Given the description of an element on the screen output the (x, y) to click on. 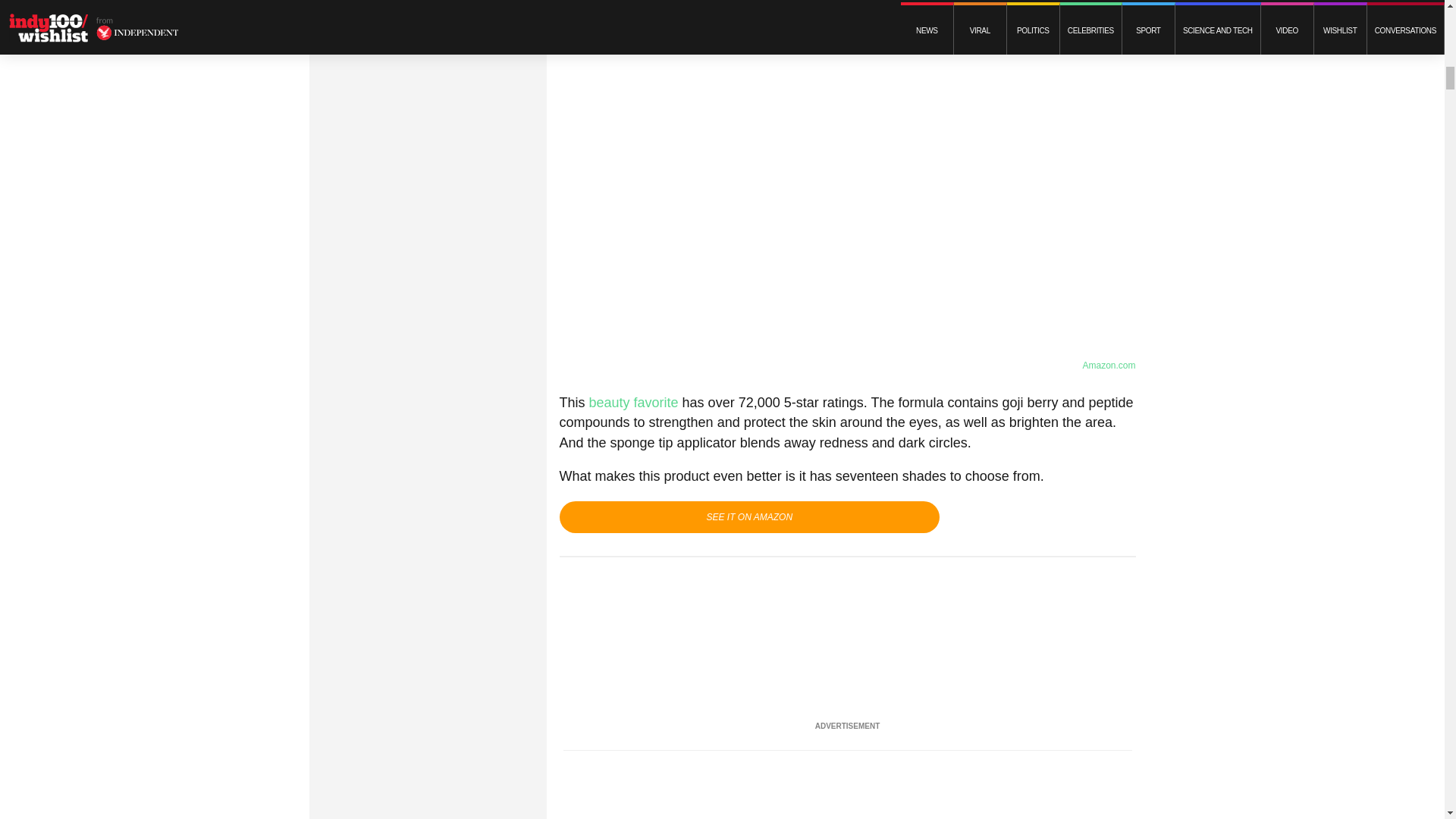
beauty favorite (633, 402)
Buy Now (749, 517)
Amazon.com (1108, 365)
